Given the description of an element on the screen output the (x, y) to click on. 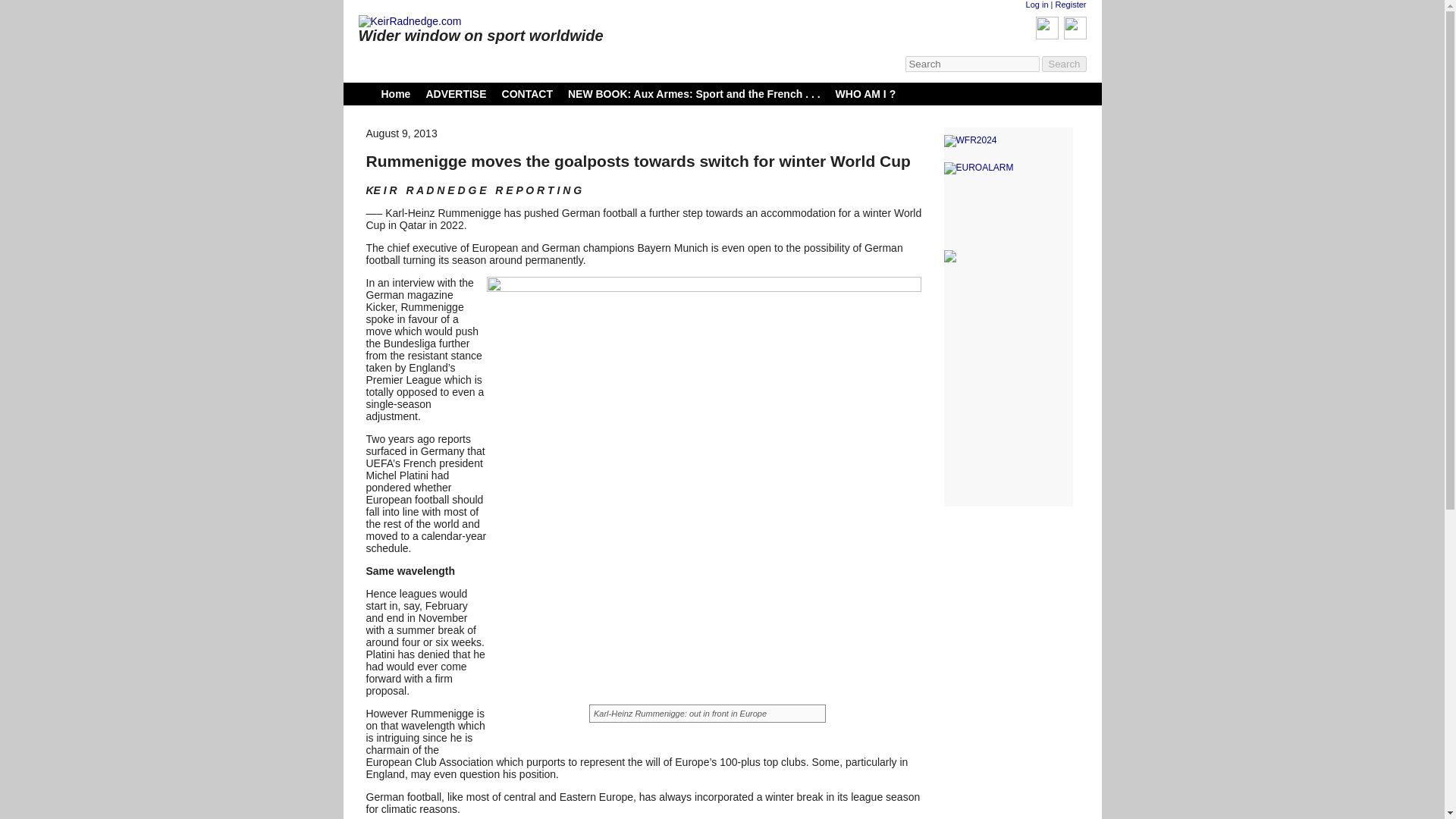
ADVERTISE (455, 93)
Home (395, 93)
NEW BOOK: Aux Armes: Sport and the French . . . (694, 93)
EUROALARM (1007, 168)
CONTACT (527, 93)
Register (1070, 4)
WFR2024 (1007, 141)
Search (1064, 64)
WHO AM I ? (865, 93)
